Given the description of an element on the screen output the (x, y) to click on. 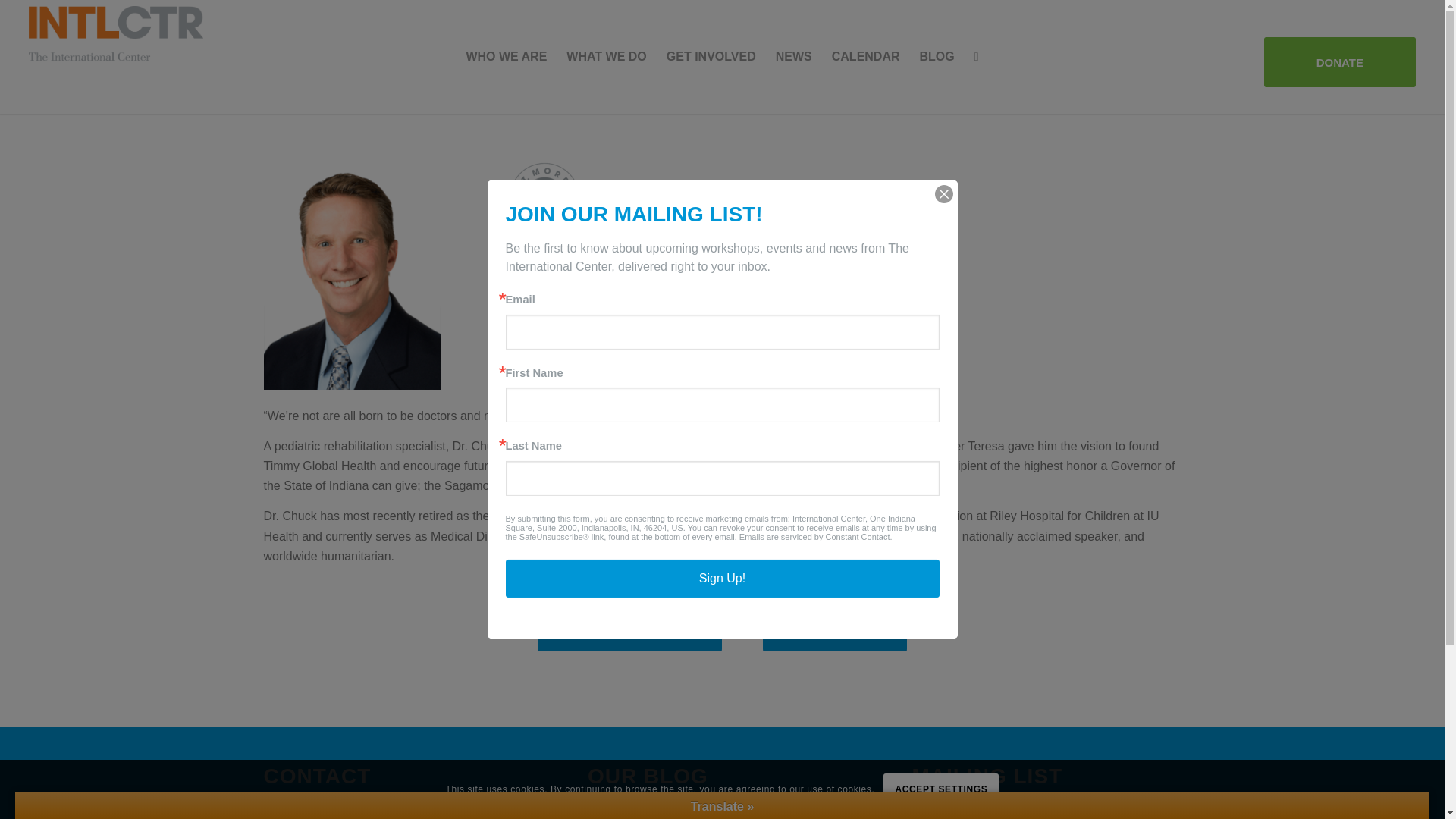
GET INVOLVED (710, 56)
